Given the description of an element on the screen output the (x, y) to click on. 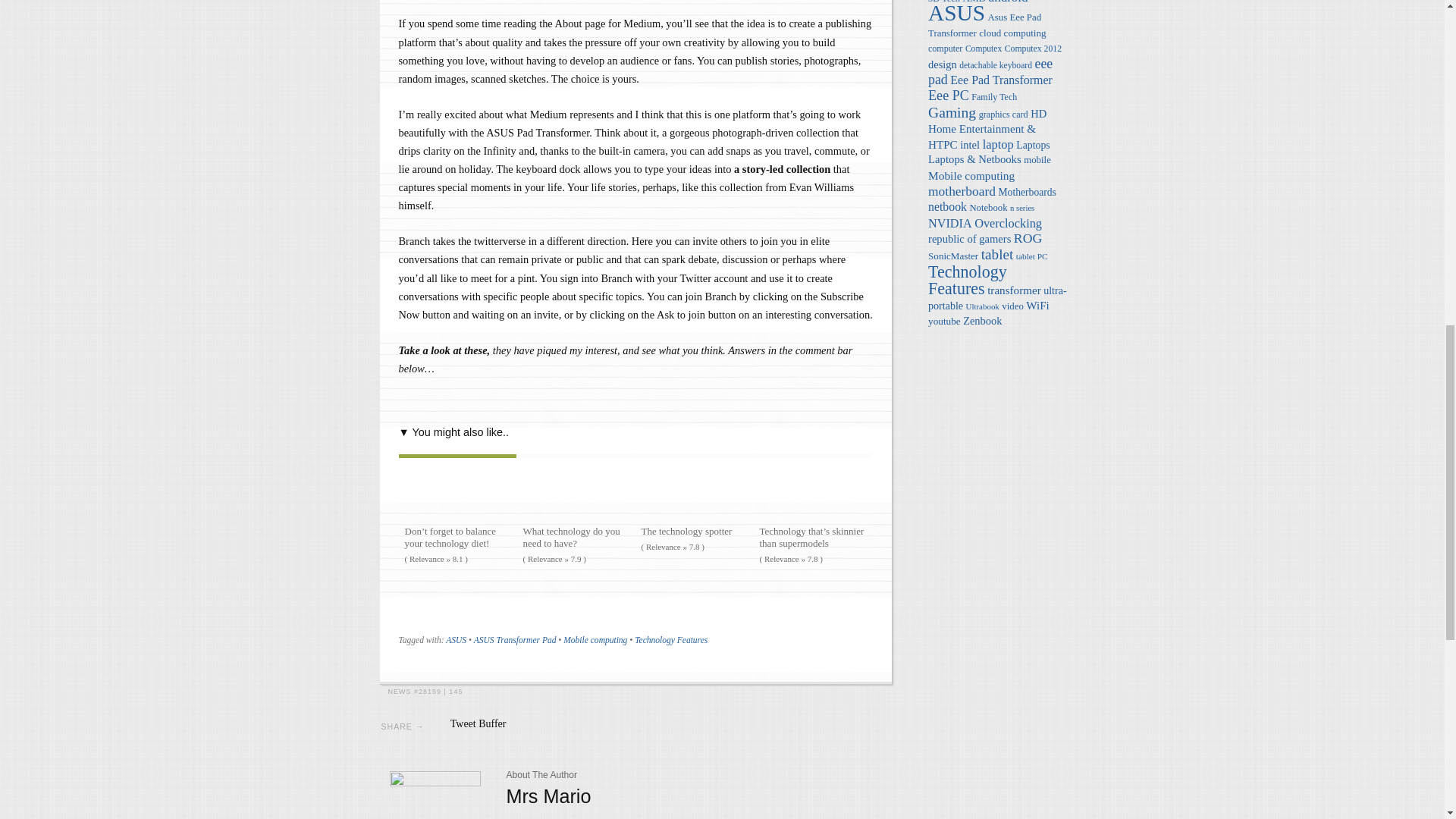
Technology Features (670, 639)
ASUS Transformer Pad (515, 639)
ASUS (455, 639)
Mobile computing (595, 639)
